Given the description of an element on the screen output the (x, y) to click on. 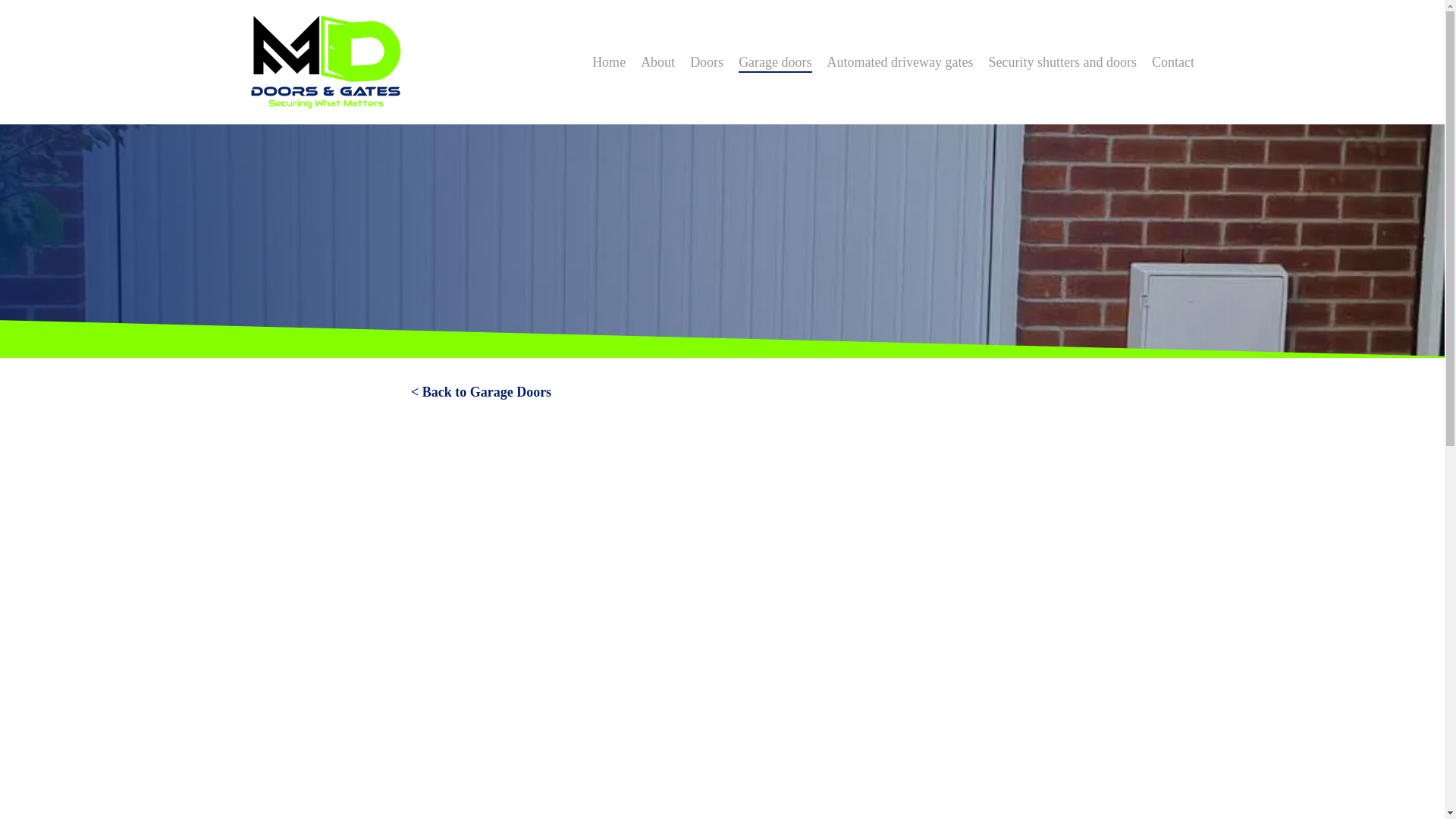
Doors (706, 62)
Contact (1172, 62)
Garage doors (774, 62)
Automated driveway gates (900, 62)
Home (609, 62)
About (657, 62)
Security shutters and doors (1062, 62)
